Given the description of an element on the screen output the (x, y) to click on. 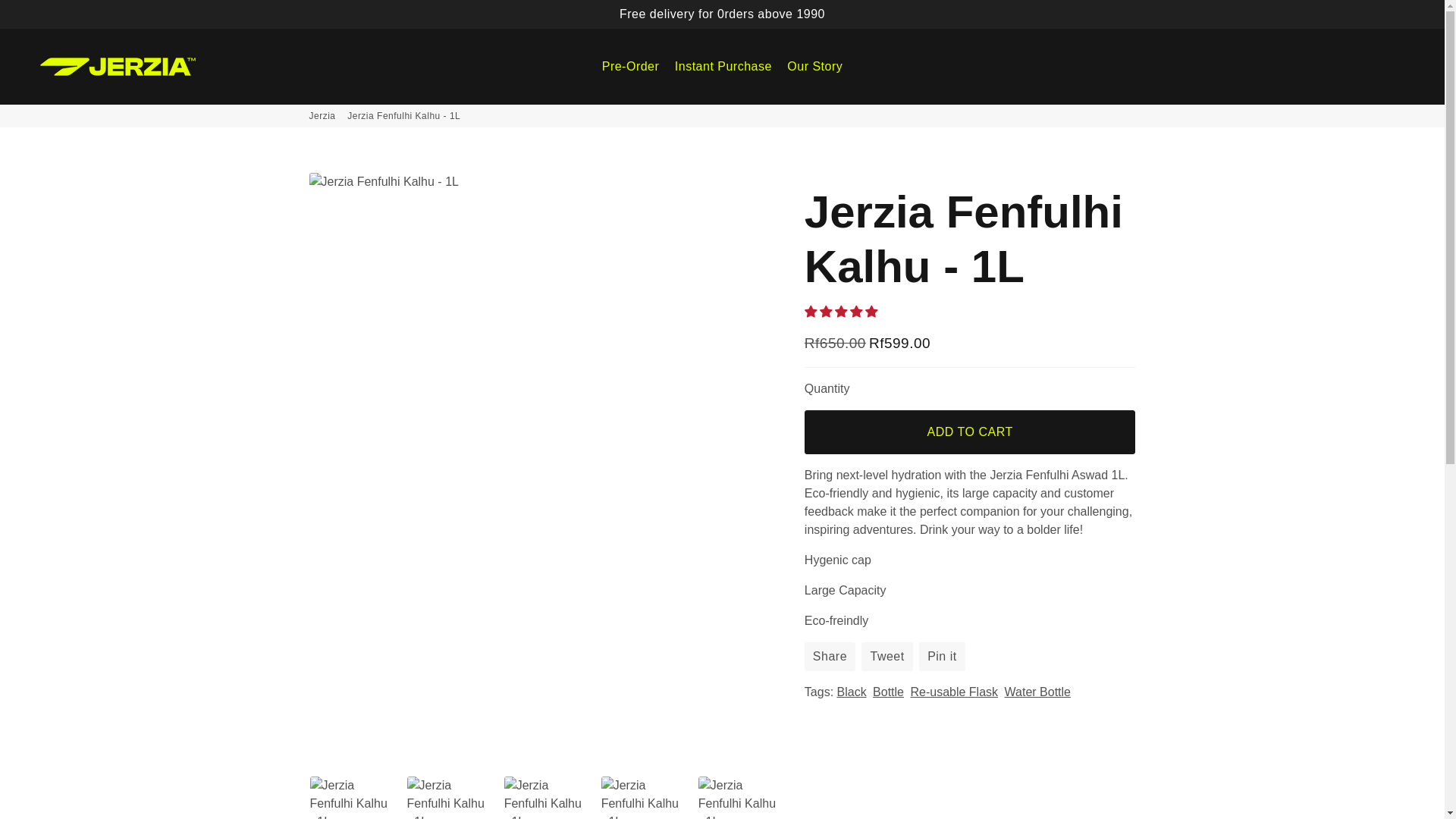
Share on Facebook (830, 656)
Tweet on Twitter (886, 656)
Pin on Pinterest (941, 656)
